Given the description of an element on the screen output the (x, y) to click on. 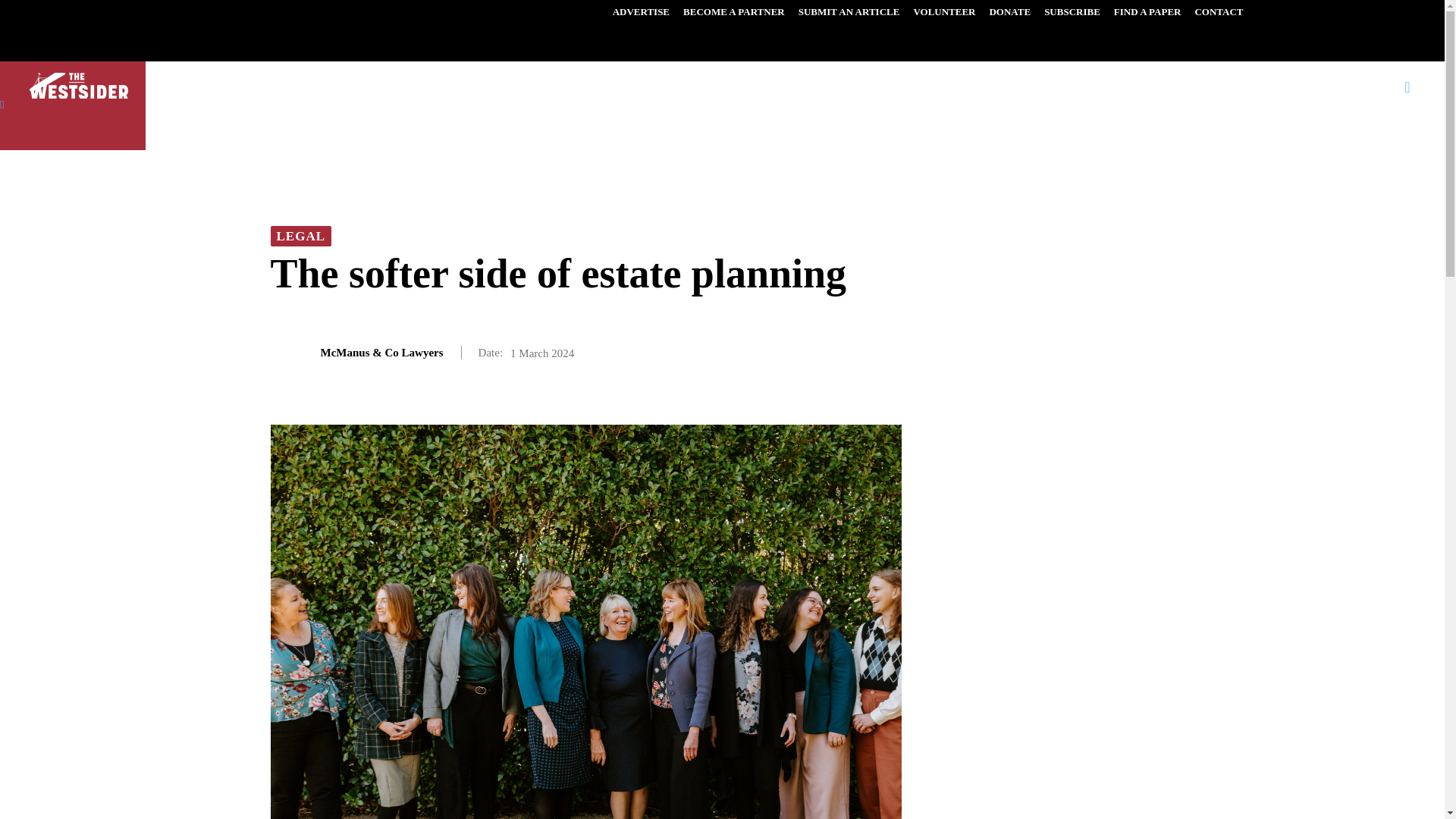
ADVERTISE (641, 12)
CONTACT (1218, 12)
VOLUNTEER (943, 12)
SUBSCRIBE (1071, 12)
DONATE (1008, 12)
FIND A PAPER (1147, 12)
SUBMIT AN ARTICLE (849, 12)
BECOME A PARTNER (734, 12)
